Given the description of an element on the screen output the (x, y) to click on. 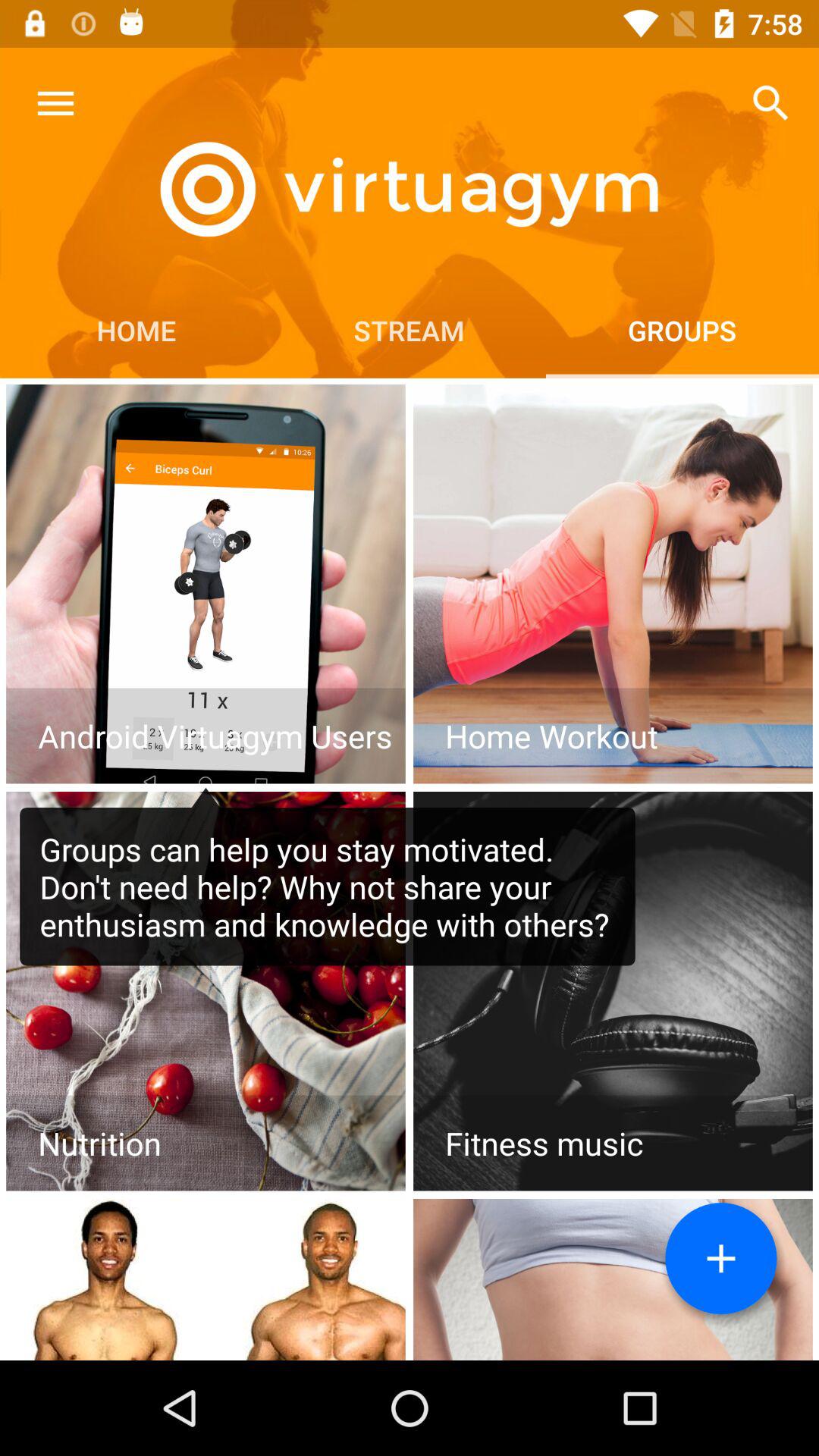
turn off item above home icon (55, 103)
